Given the description of an element on the screen output the (x, y) to click on. 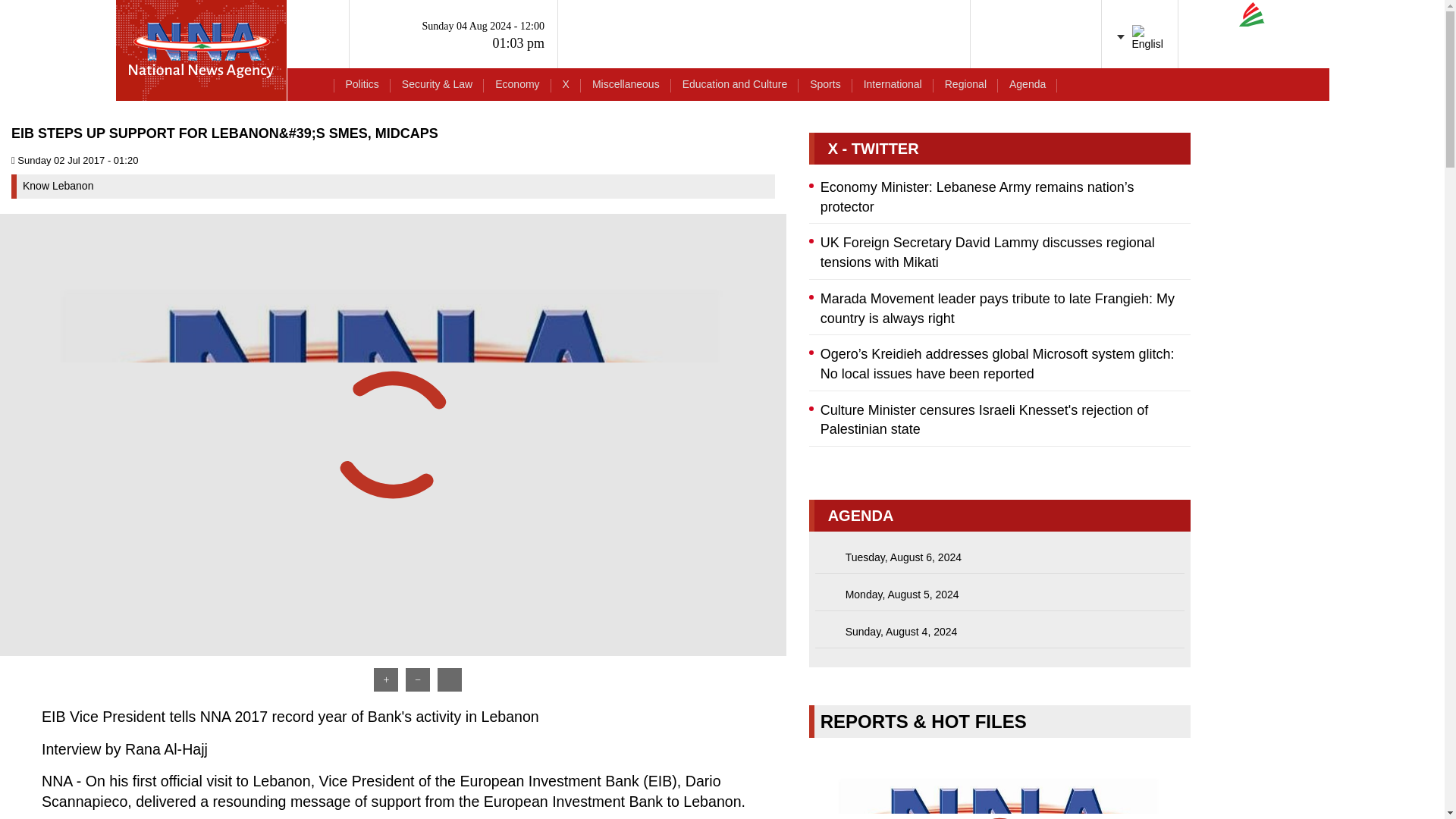
Economy (516, 83)
Know Lebanon (58, 185)
International (892, 83)
Download (769, 638)
Agenda (1027, 83)
Monday, August 5, 2024 (1000, 594)
Education and Culture (735, 83)
Tuesday, August 6, 2024 (1000, 557)
Sports (824, 83)
Regional (965, 83)
Politics (361, 83)
Audio (1263, 85)
